Given the description of an element on the screen output the (x, y) to click on. 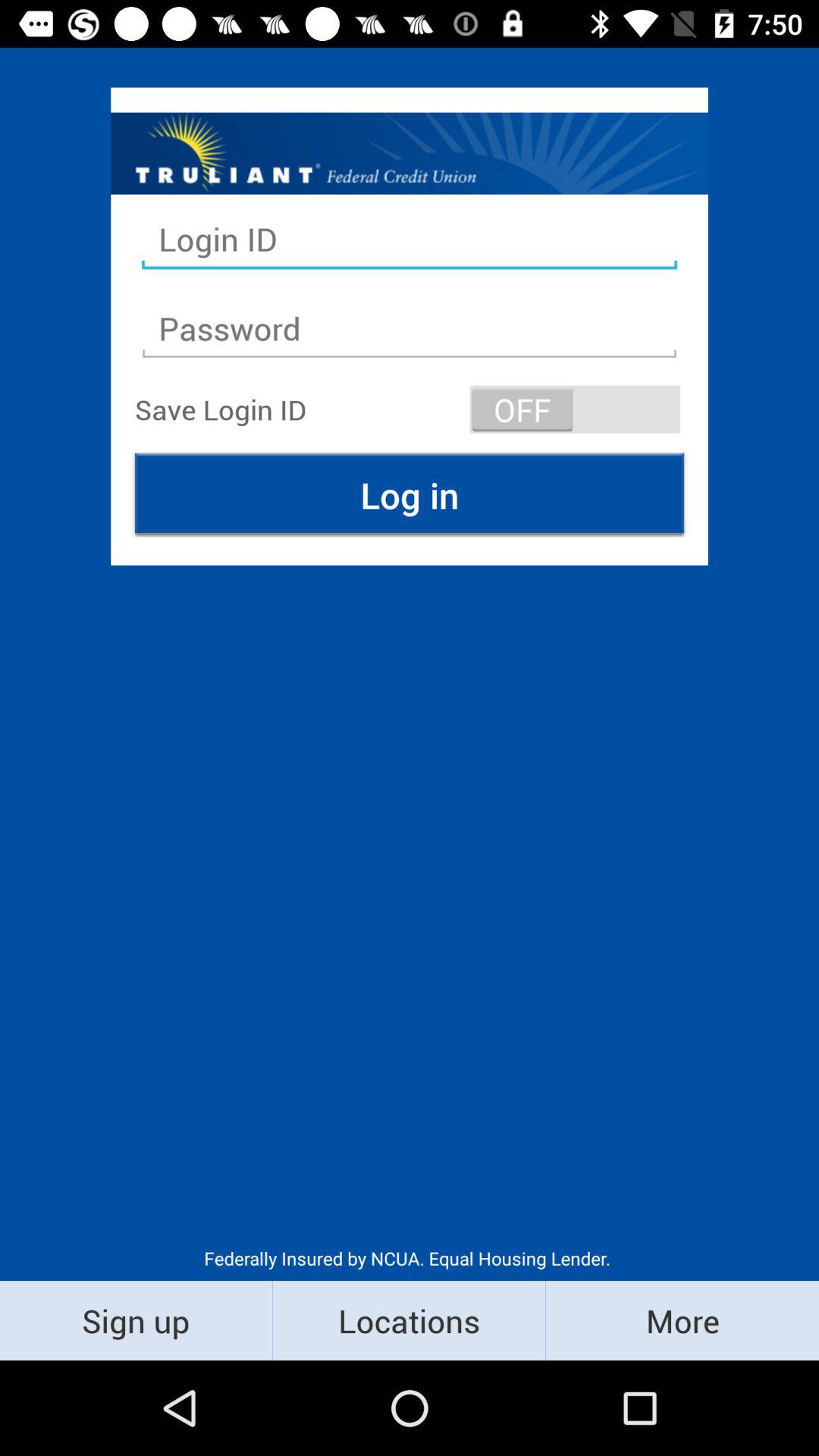
select the icon below the federally insured by (682, 1320)
